Given the description of an element on the screen output the (x, y) to click on. 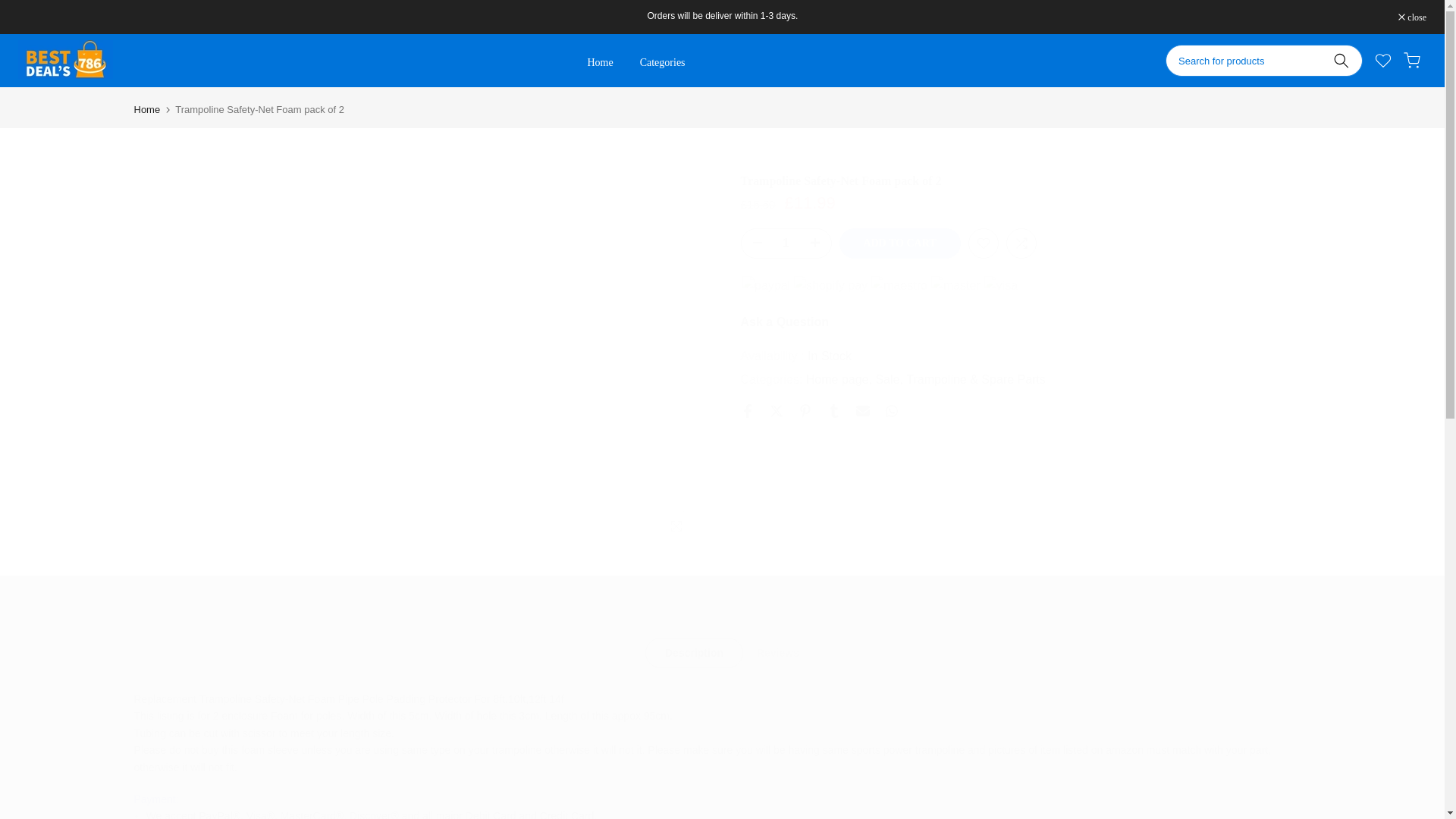
Share on WhatsApp (890, 410)
ADD TO CART (898, 243)
Ask a Question (783, 321)
Categories (662, 63)
close (1411, 16)
Share on Twitter (775, 410)
Share on Tumblr (833, 410)
Reviews (777, 653)
Skip to content (10, 7)
Home (599, 63)
Home page (839, 379)
Description (693, 653)
Share on Email (862, 410)
Home (146, 109)
Share on Facebook (746, 410)
